Given the description of an element on the screen output the (x, y) to click on. 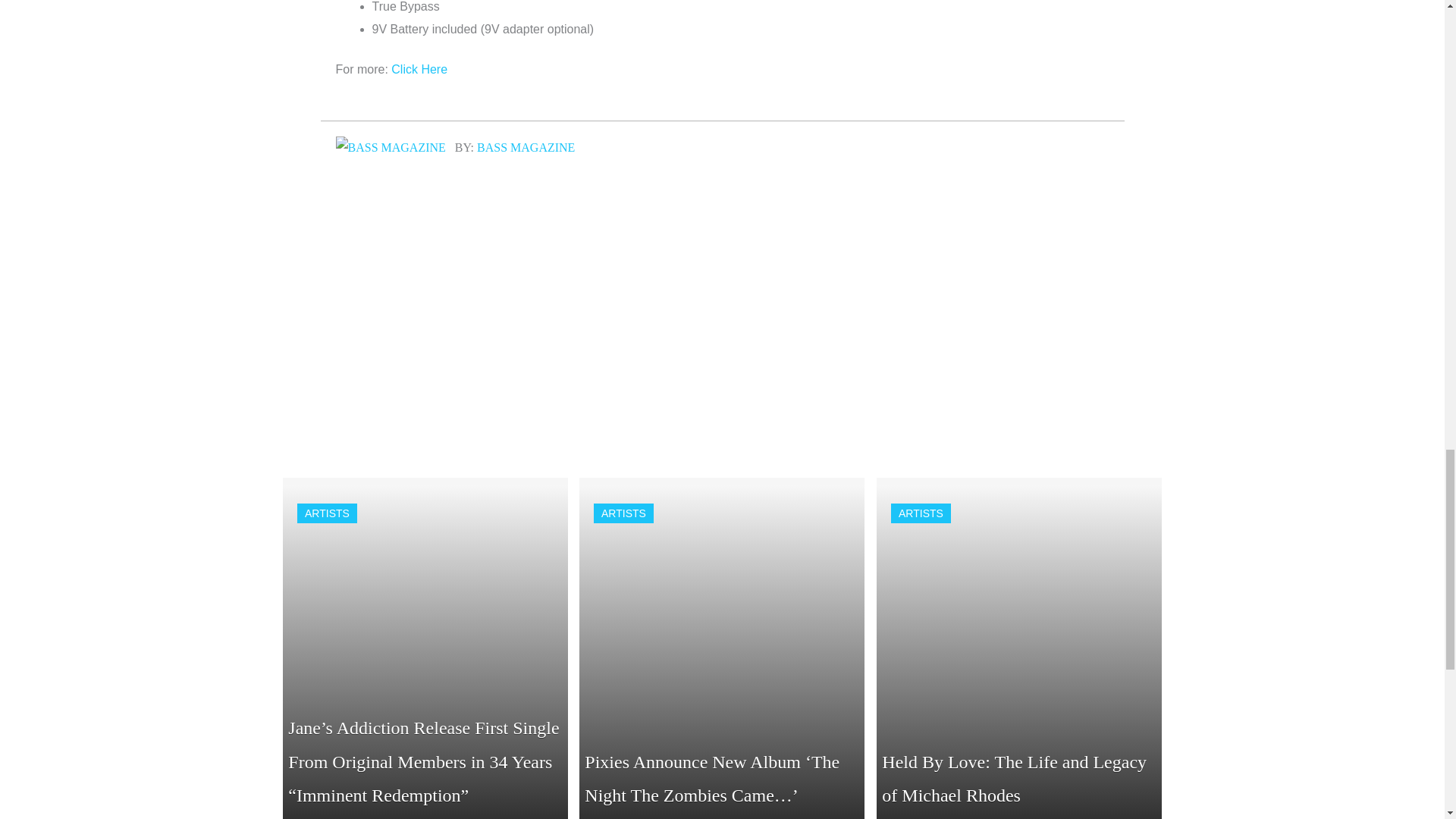
View Box Content (424, 648)
View Box Content (1018, 648)
View Box Content (721, 648)
